Given the description of an element on the screen output the (x, y) to click on. 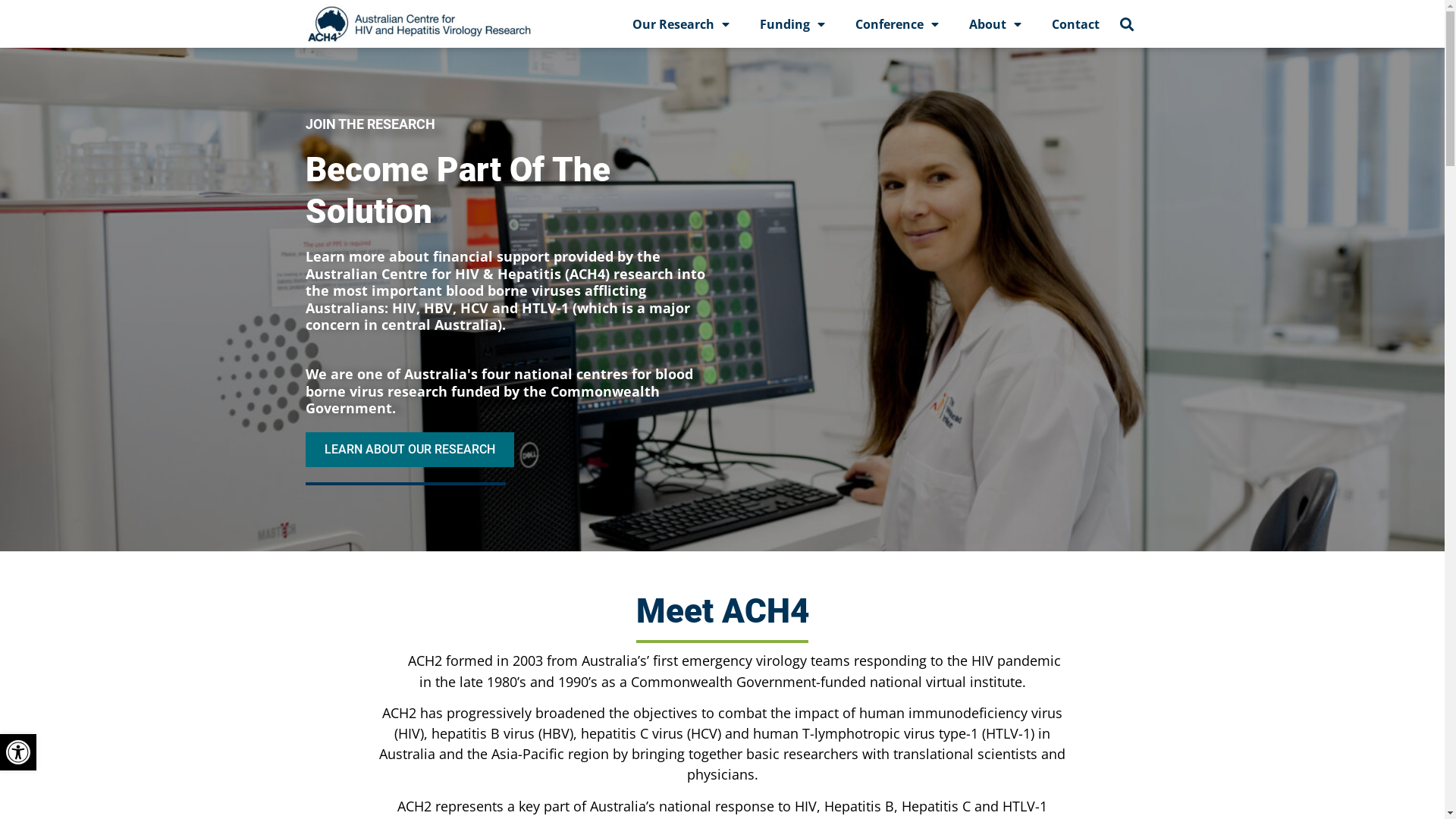
Contact Element type: text (1074, 24)
Our Research Element type: text (680, 24)
LEARN ABOUT OUR RESEARCH Element type: text (408, 449)
Open toolbar Element type: text (18, 752)
Conference Element type: text (896, 24)
About Element type: text (994, 24)
Funding Element type: text (792, 24)
